Given the description of an element on the screen output the (x, y) to click on. 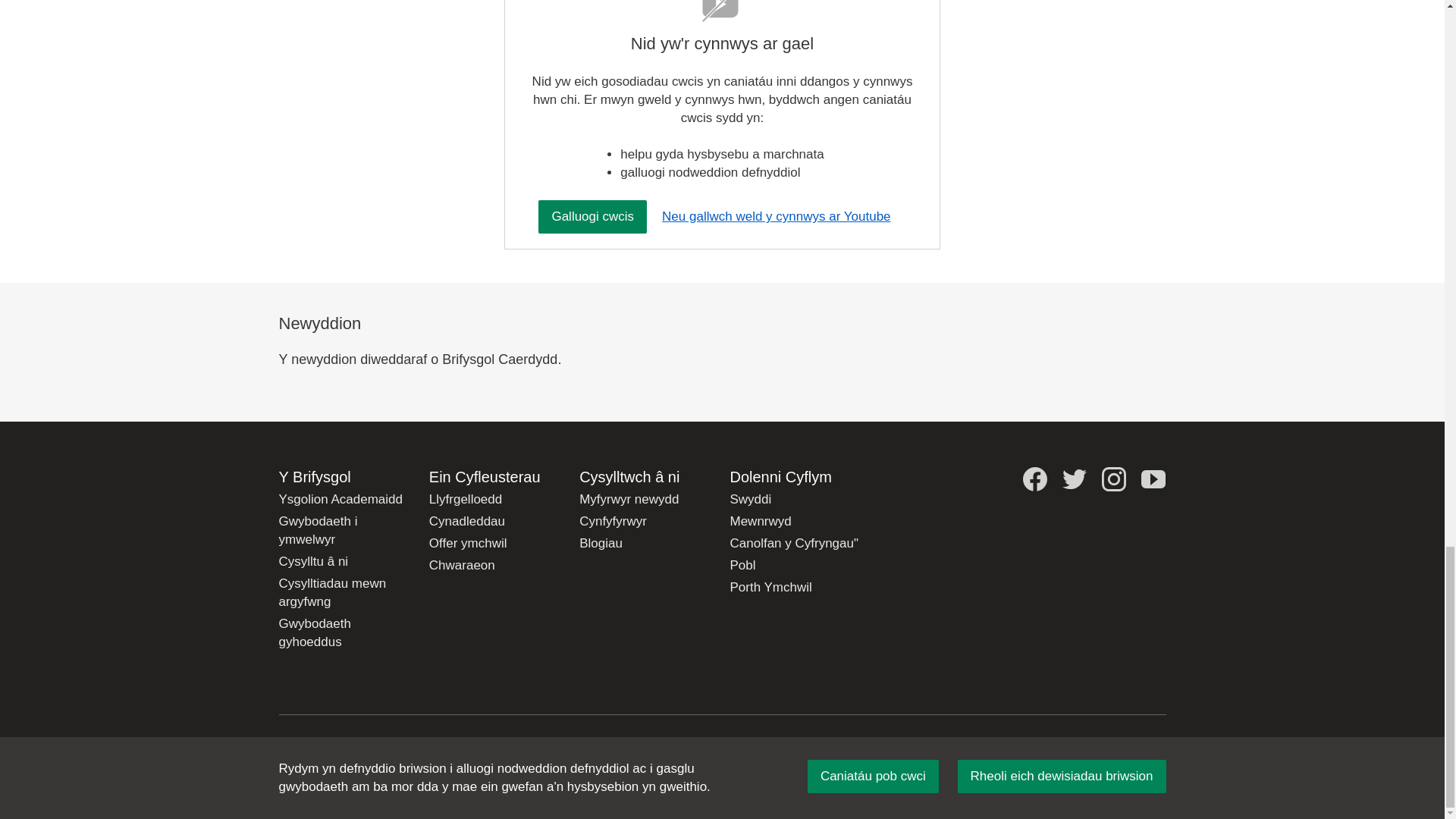
Youtube (1153, 478)
Video disabled icon (719, 11)
instagram (1113, 478)
twitter no background icon (1074, 478)
facebook (1034, 478)
